Given the description of an element on the screen output the (x, y) to click on. 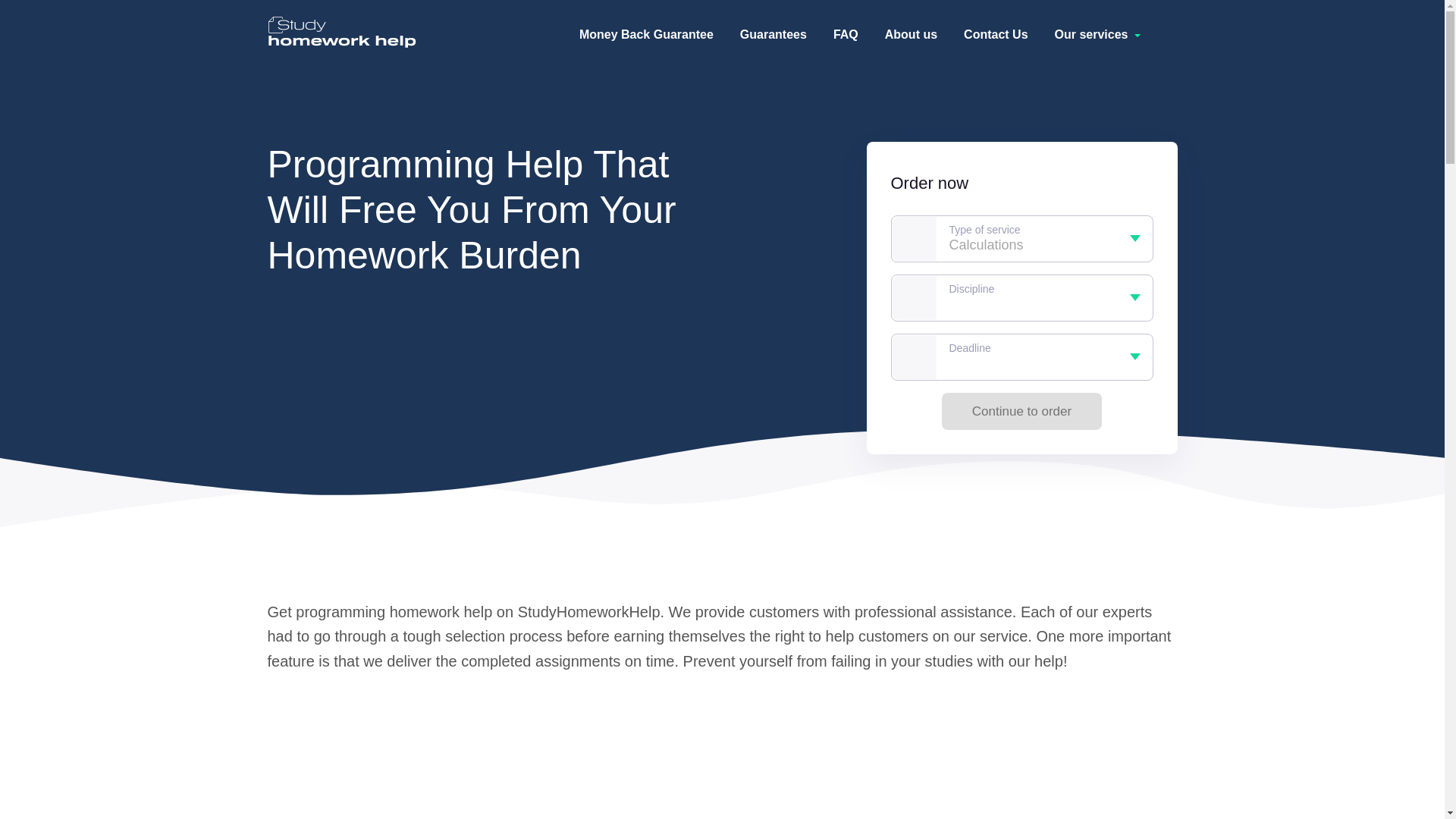
Money Back Guarantee (646, 33)
Continue to order (1022, 411)
Guarantees (772, 33)
Contact Us (995, 33)
About us (911, 33)
Our services (1099, 34)
FAQ (845, 33)
